Given the description of an element on the screen output the (x, y) to click on. 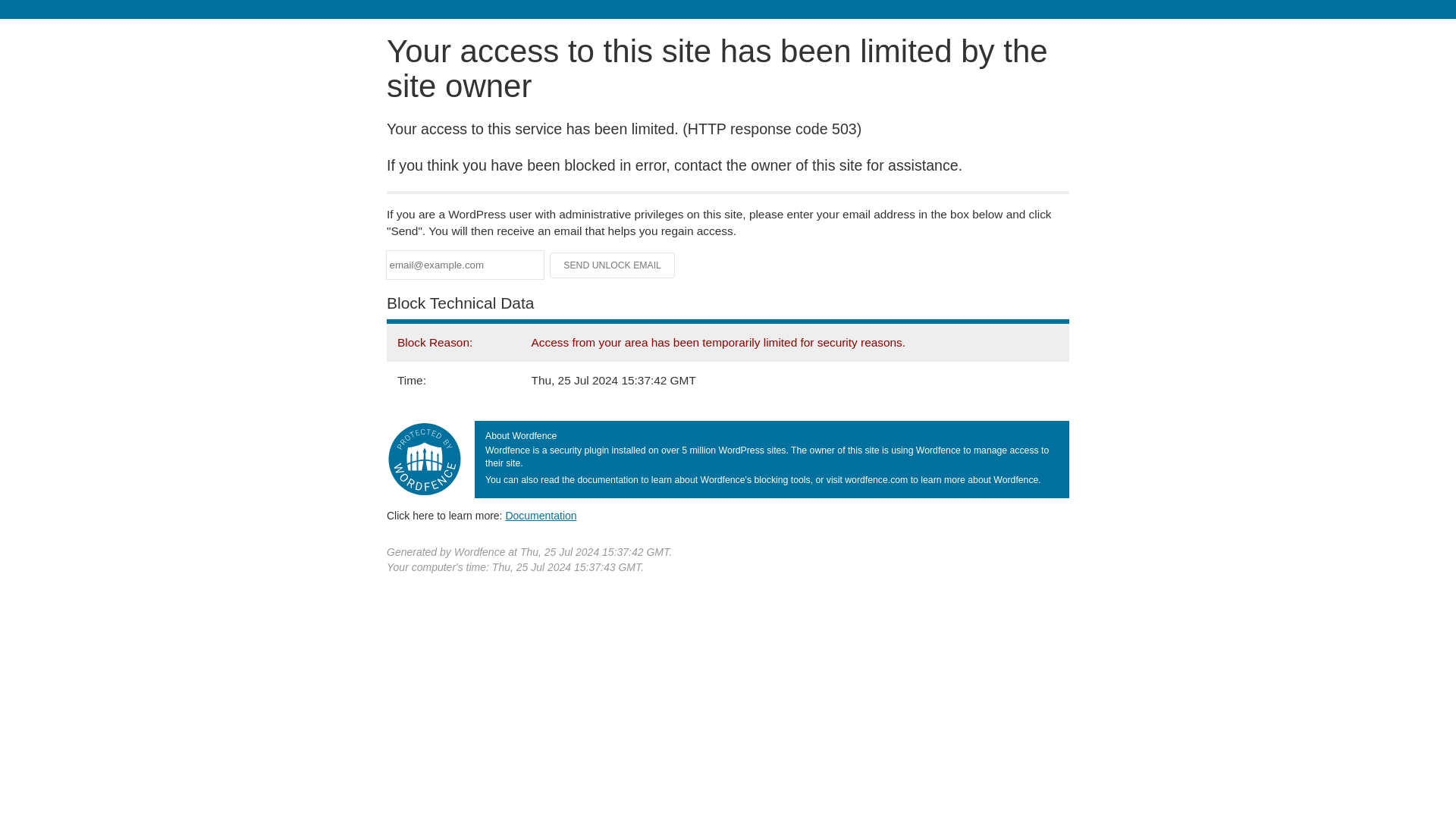
Documentation (540, 515)
Send Unlock Email (612, 265)
Send Unlock Email (612, 265)
